Given the description of an element on the screen output the (x, y) to click on. 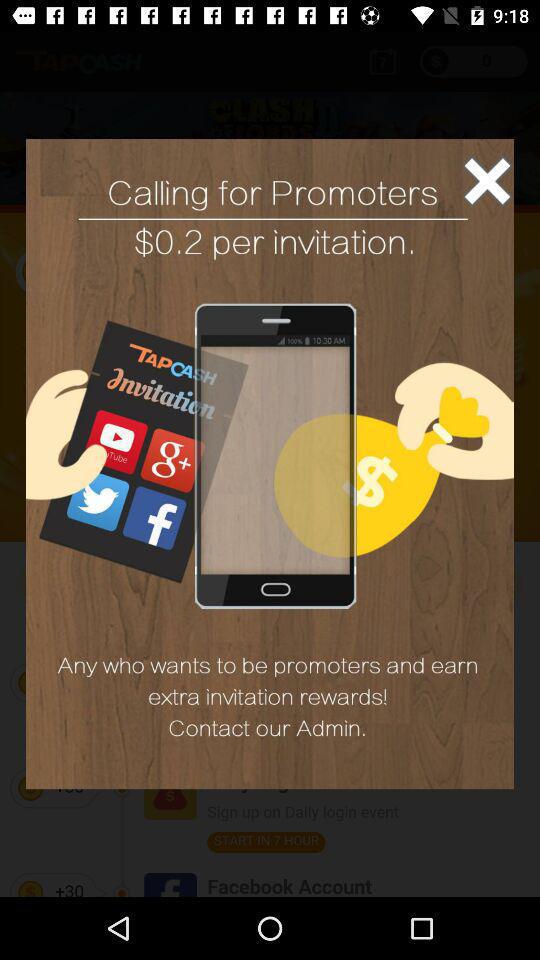
close tag (487, 180)
